Given the description of an element on the screen output the (x, y) to click on. 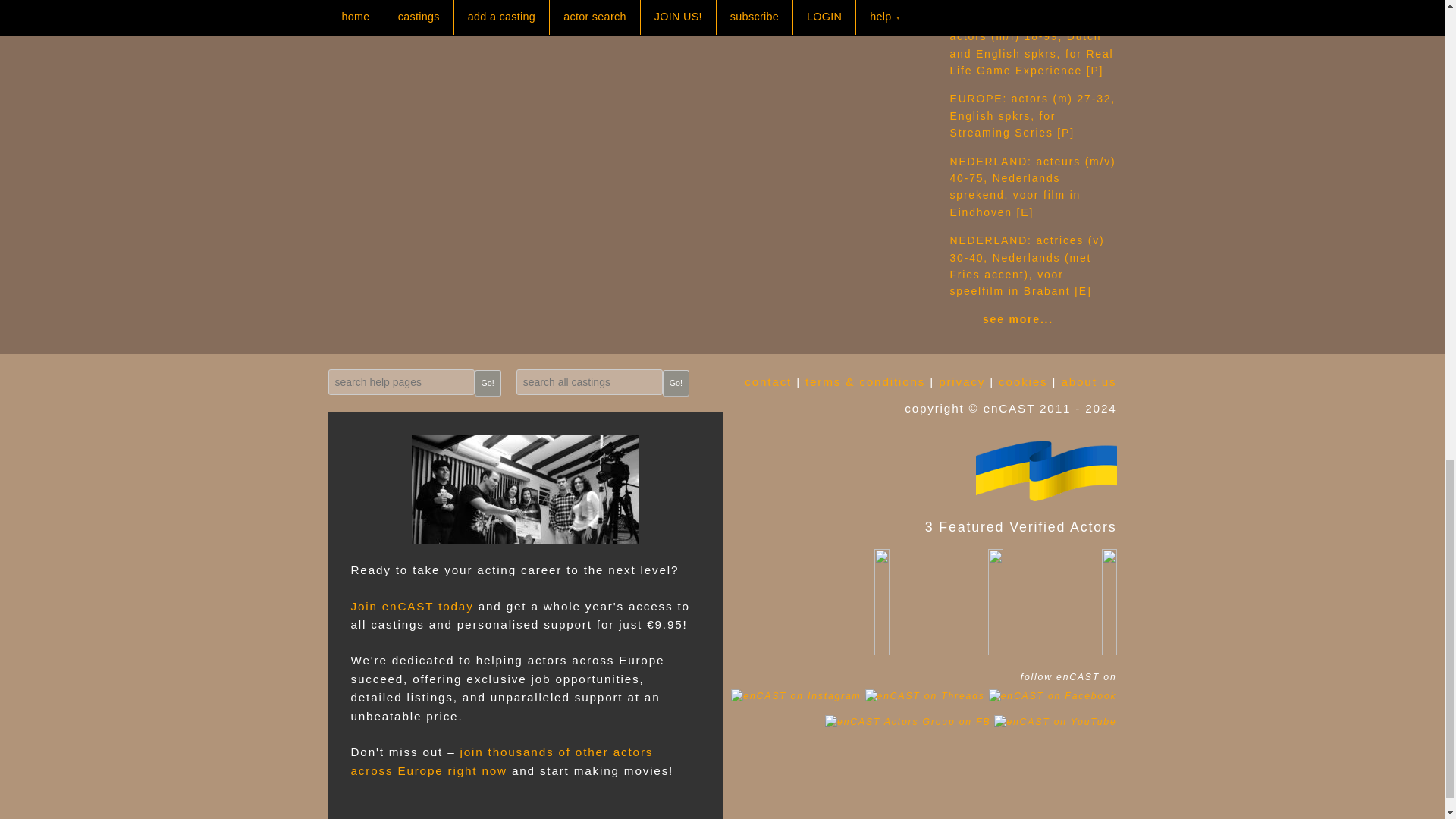
privacy (962, 381)
Go! (675, 383)
join thousands of other actors across Europe right now (501, 760)
cookies (1022, 381)
see more... (1017, 318)
3 Featured Verified Actors (919, 469)
Join enCAST today (411, 605)
contact (768, 381)
about us (1088, 381)
Go! (487, 383)
